Given the description of an element on the screen output the (x, y) to click on. 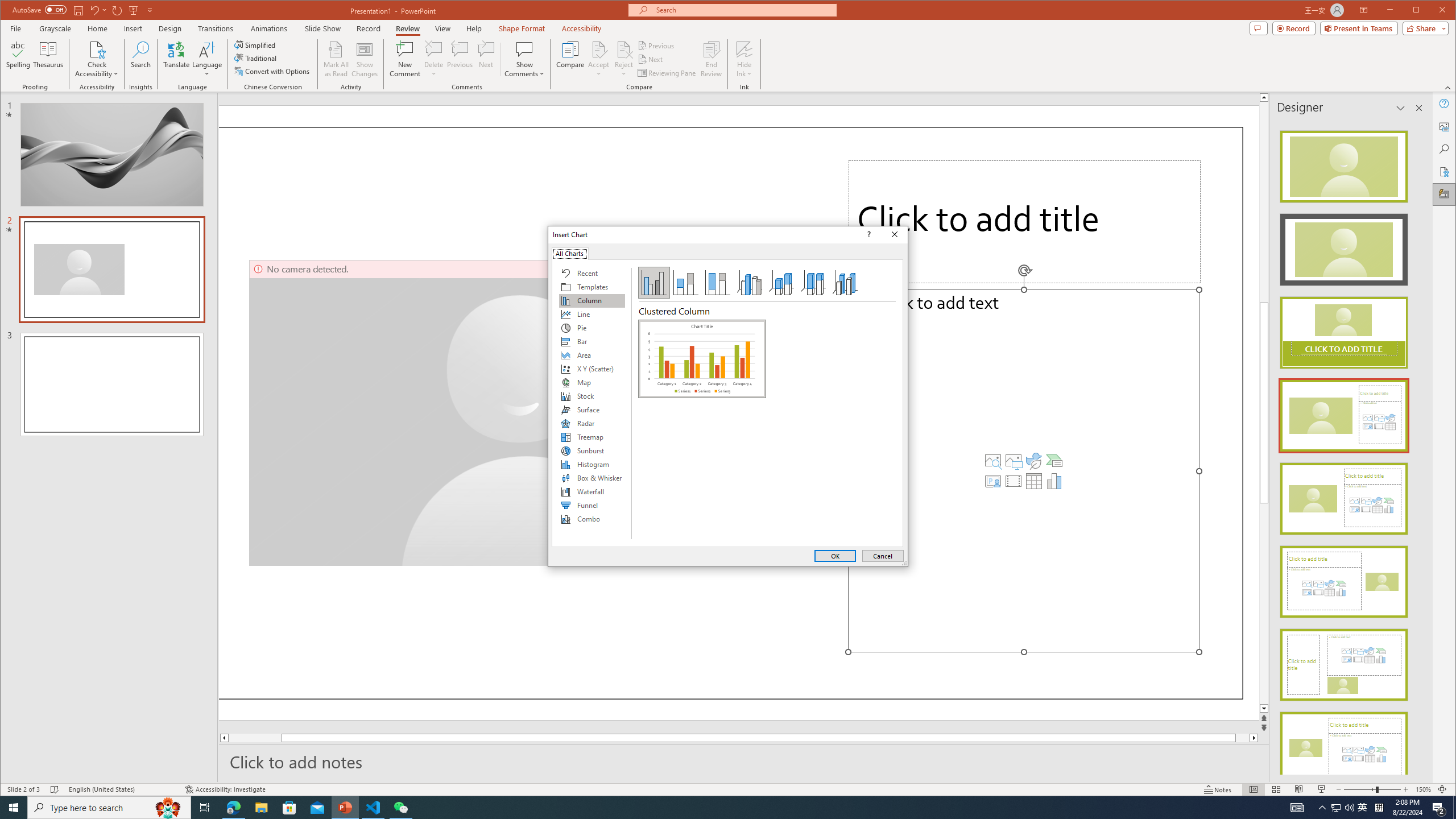
Funnel (591, 505)
Recent (591, 273)
Simplified (255, 44)
Column (591, 300)
Waterfall (591, 491)
100% Stacked Column (717, 282)
Bar (591, 341)
Thesaurus... (48, 59)
Grayscale (55, 28)
